Given the description of an element on the screen output the (x, y) to click on. 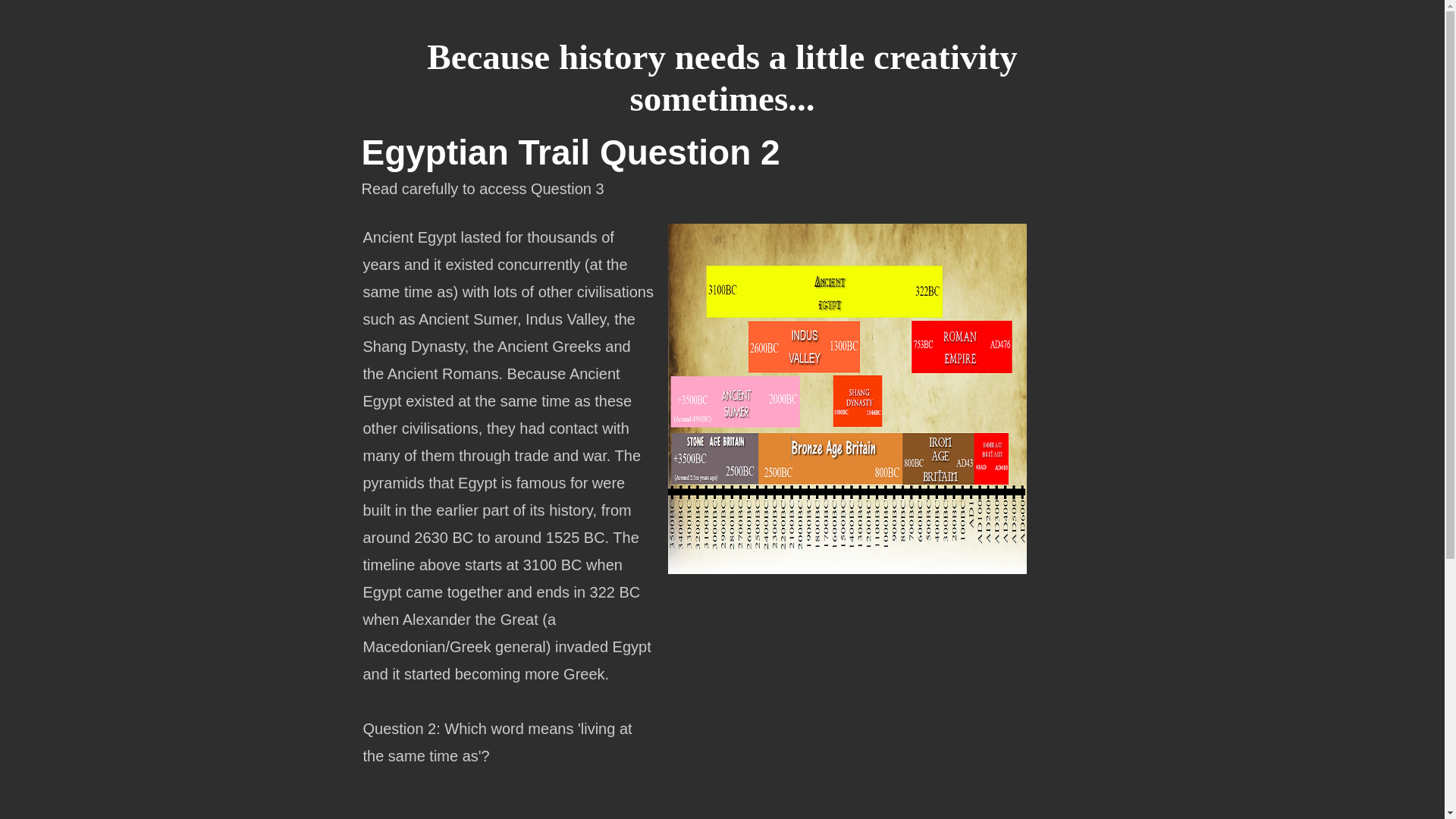
Y4 Egyptian Timeline.PNG (846, 398)
